Given the description of an element on the screen output the (x, y) to click on. 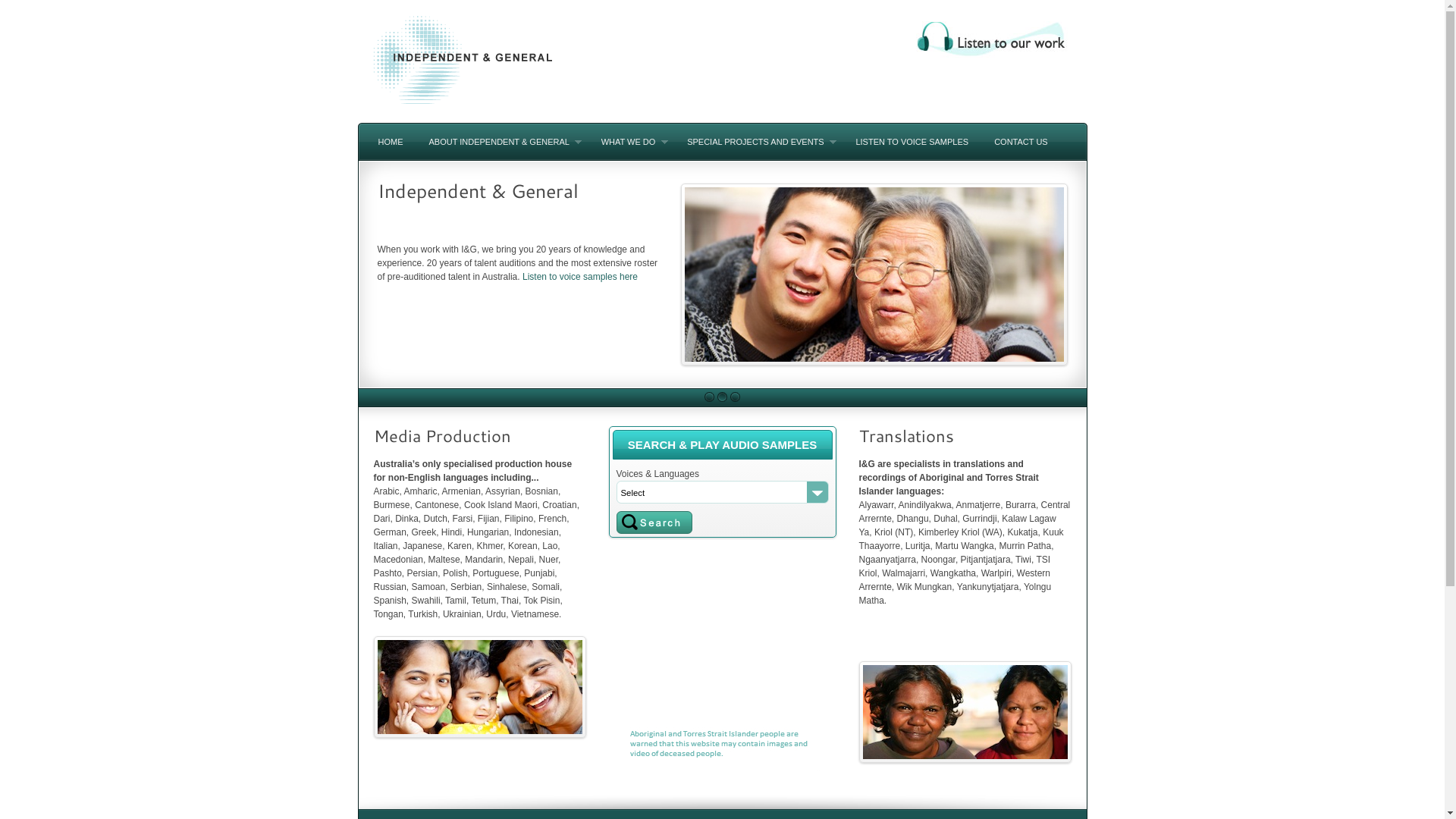
I&G Pty Ltd Element type: hover (462, 115)
Contact Us Element type: text (411, 328)
HOME Element type: text (390, 141)
CONTACT US Element type: text (1020, 141)
# Element type: text (735, 396)
# Element type: text (709, 396)
  Element type: text (653, 522)
# Element type: text (722, 396)
LISTEN TO VOICE SAMPLES Element type: text (911, 141)
